Given the description of an element on the screen output the (x, y) to click on. 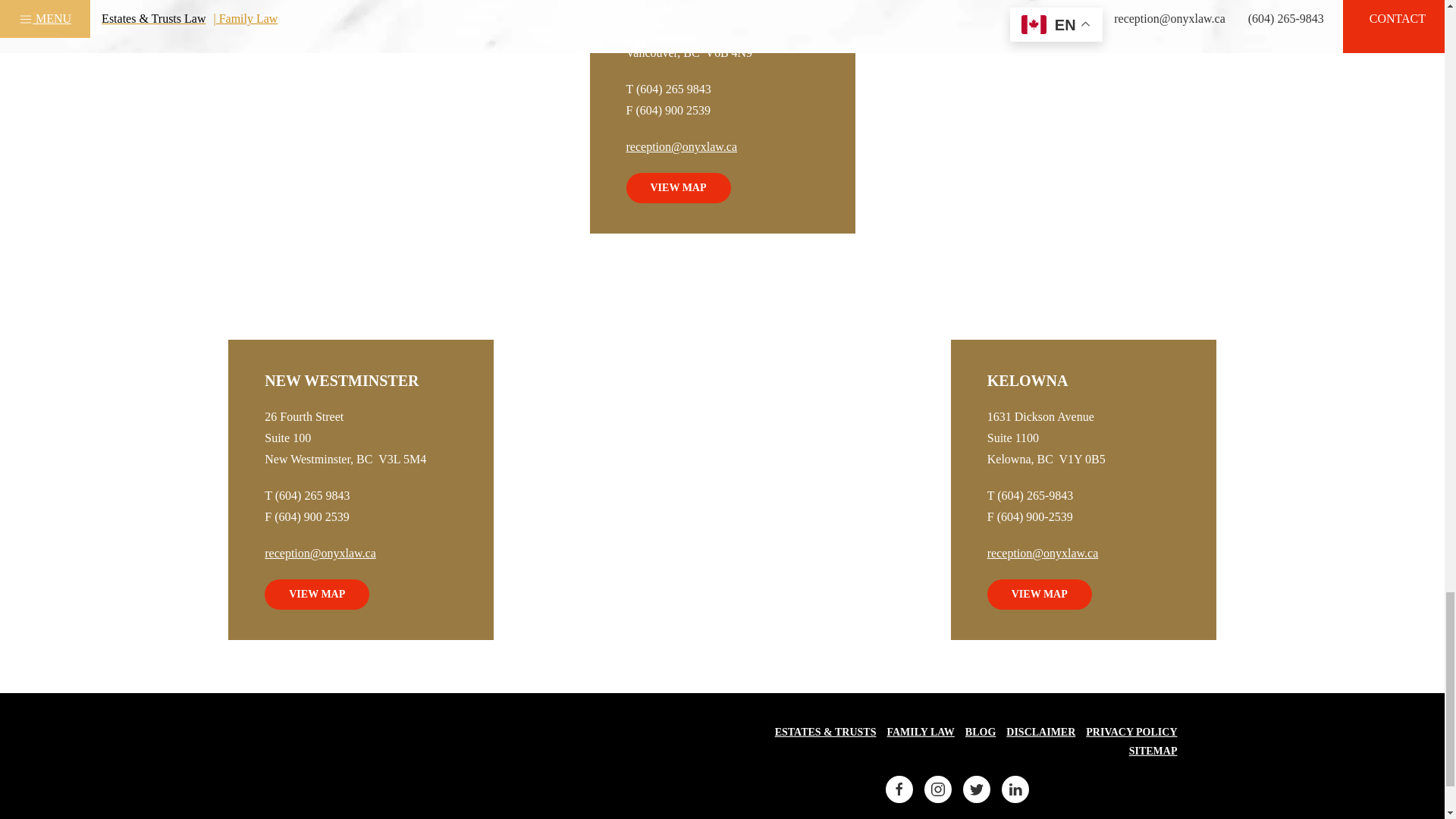
VIEW MAP (678, 187)
